Given the description of an element on the screen output the (x, y) to click on. 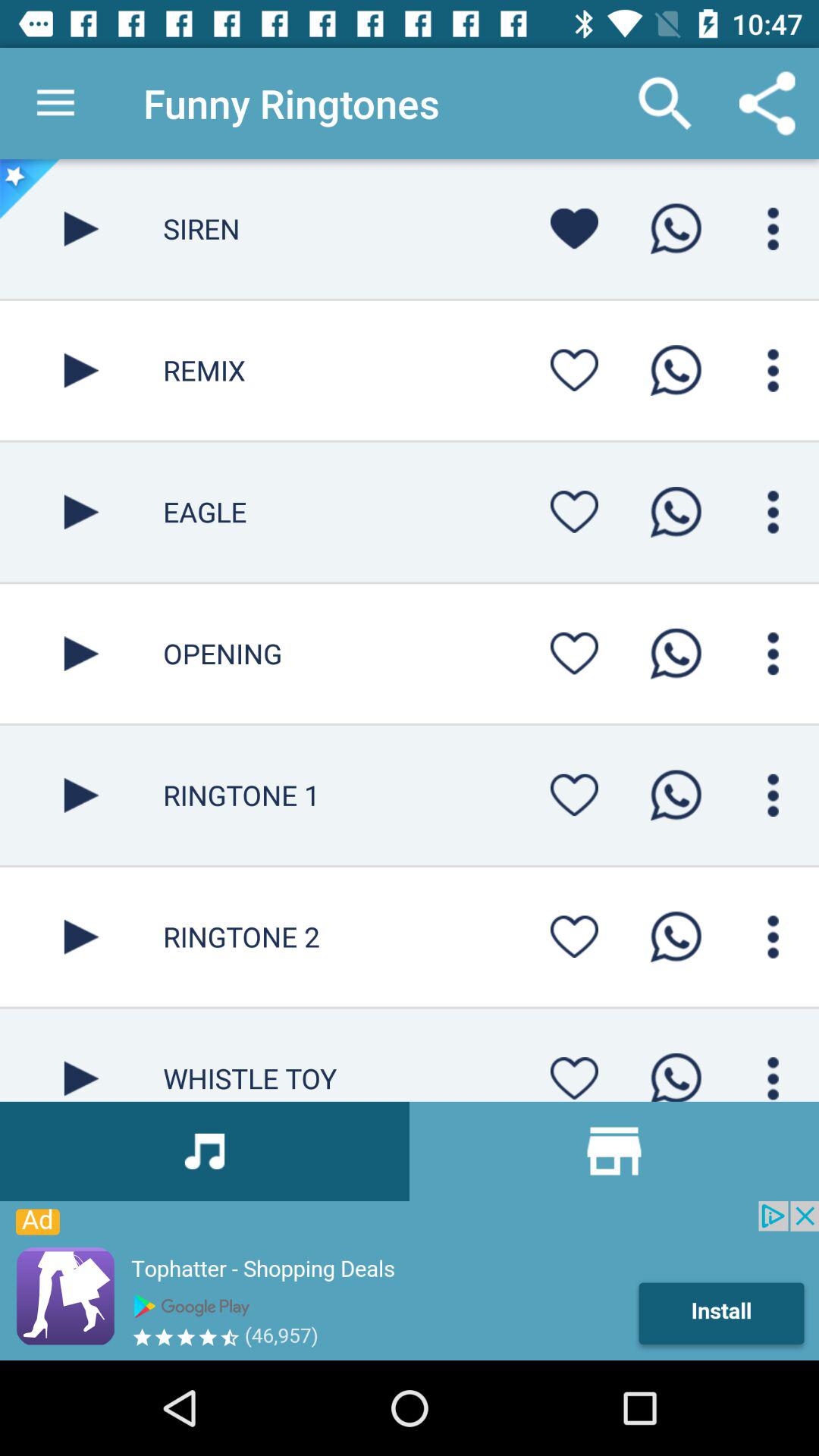
menu (773, 511)
